Given the description of an element on the screen output the (x, y) to click on. 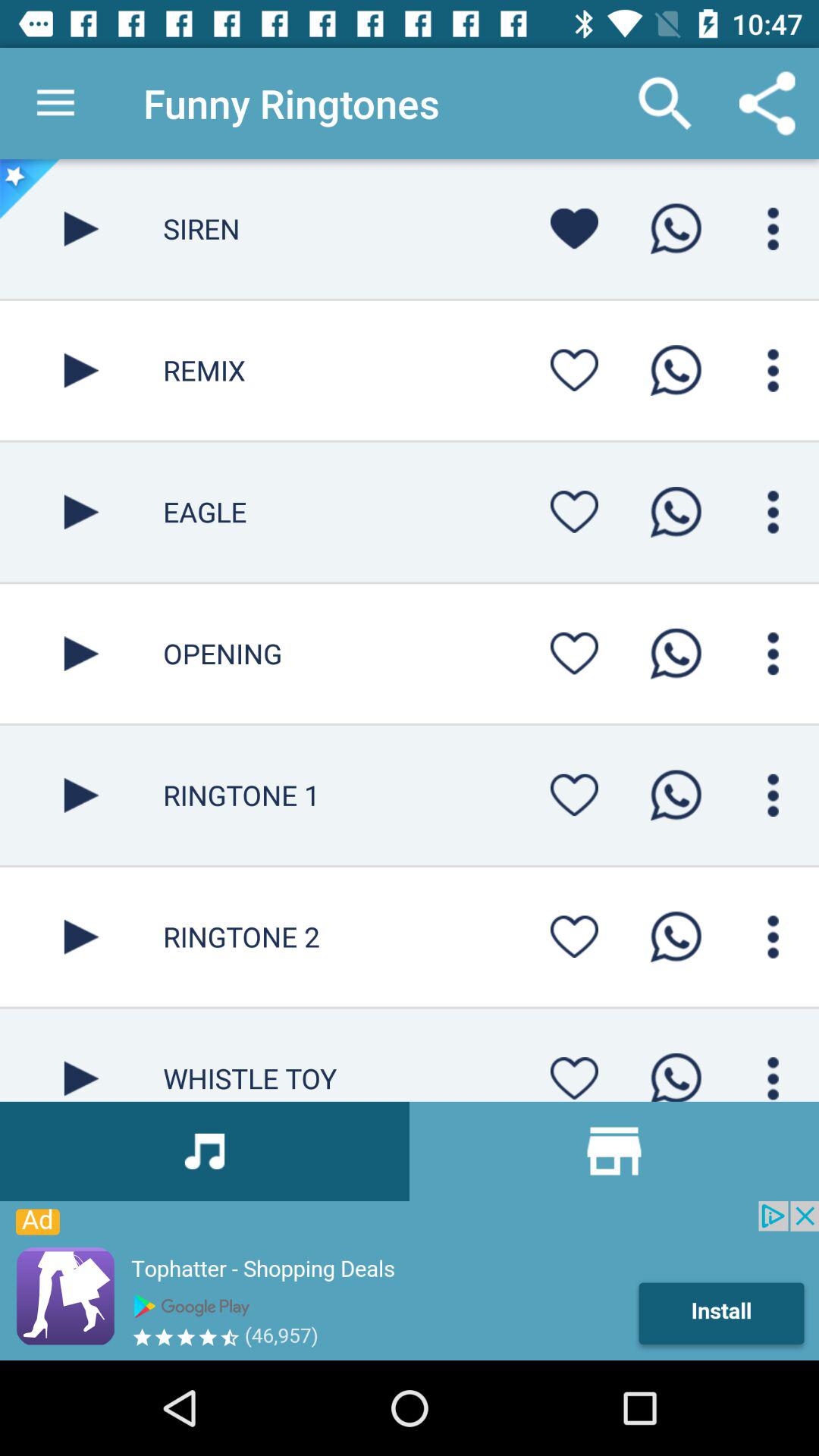
menu (773, 511)
